Given the description of an element on the screen output the (x, y) to click on. 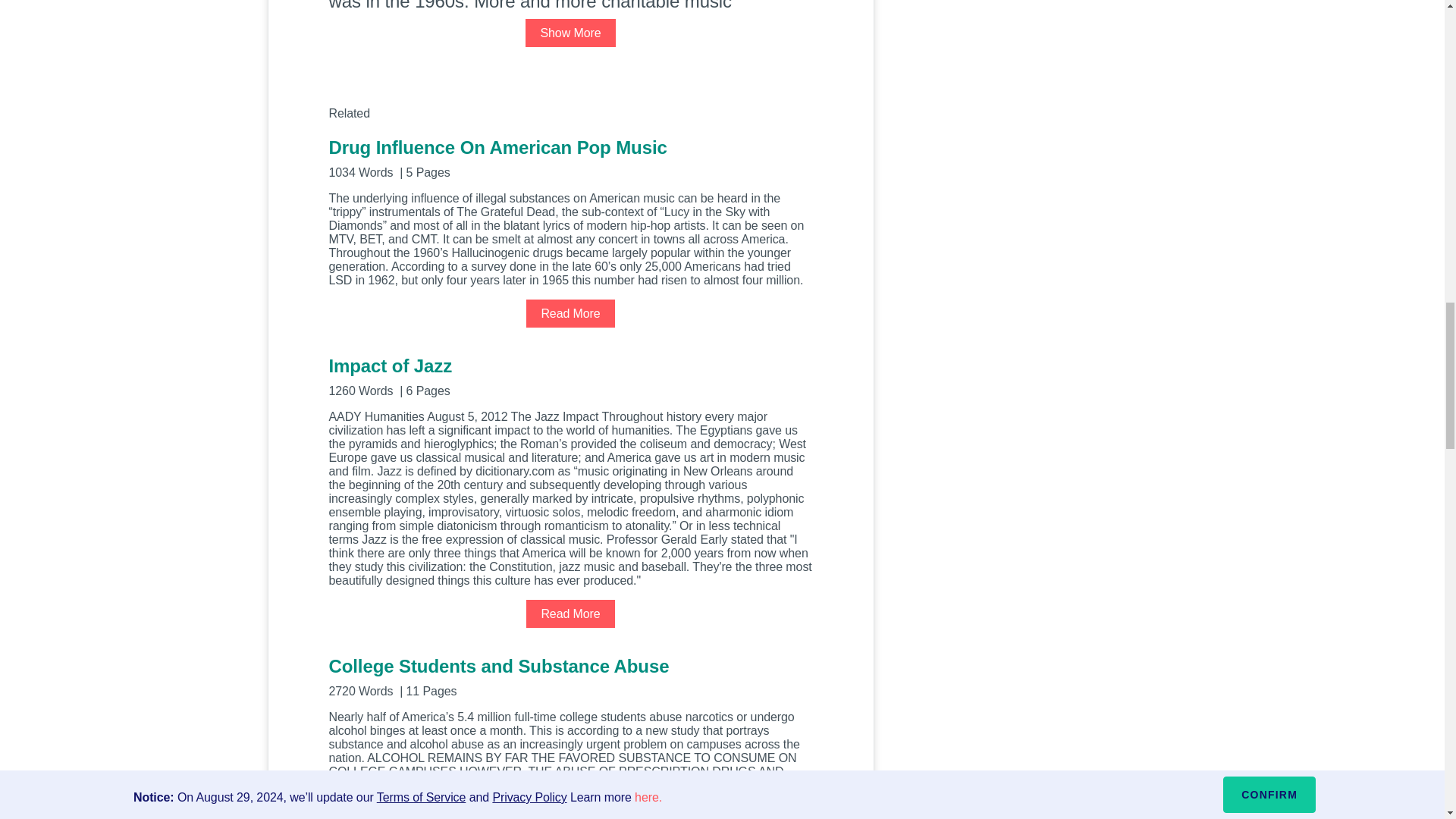
Impact of Jazz (570, 375)
Show More (569, 32)
Read More (569, 613)
Read More (569, 313)
College Students and Substance Abuse (570, 675)
Drug Influence On American Pop Music (570, 157)
